Given the description of an element on the screen output the (x, y) to click on. 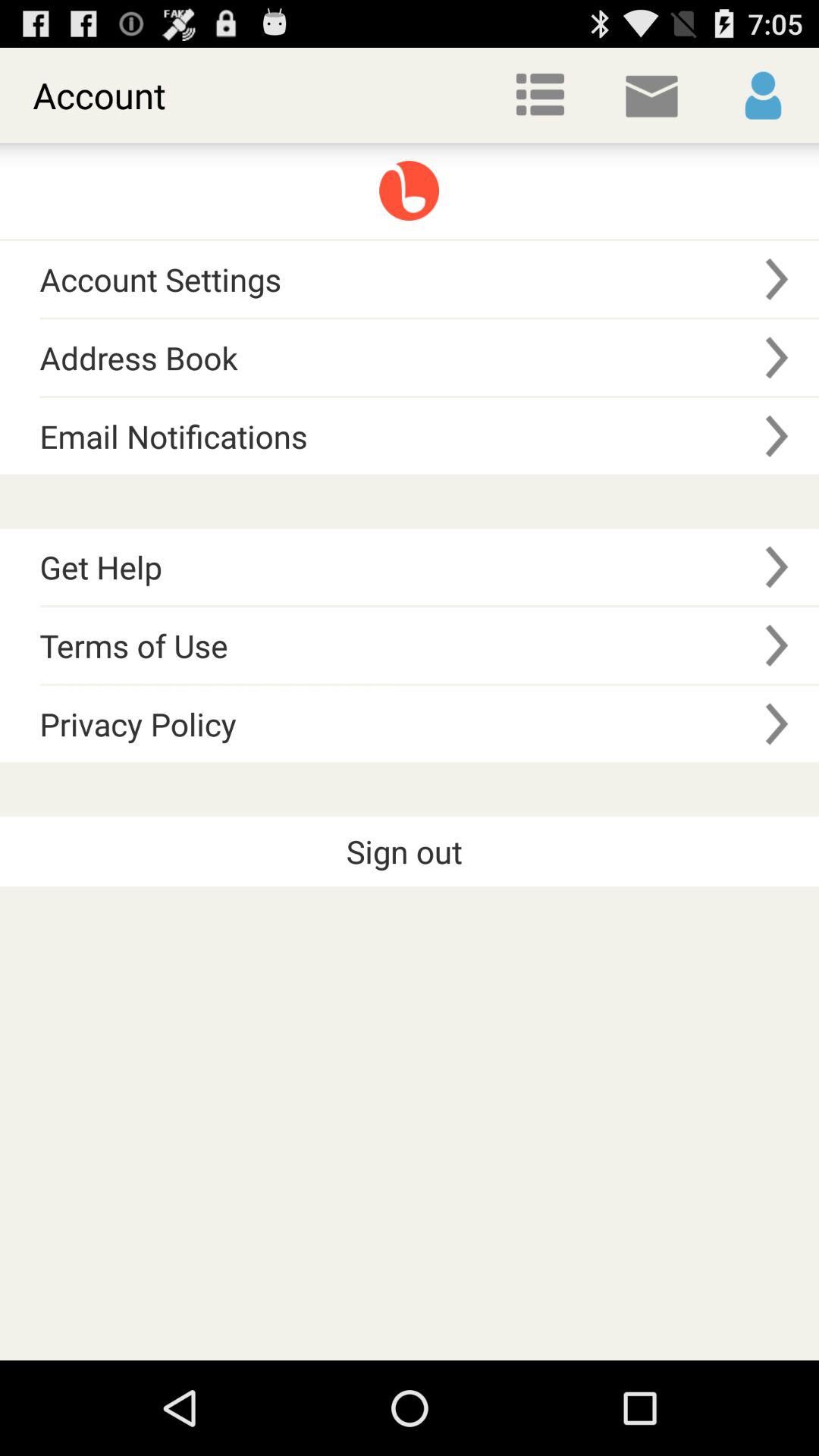
turn on the item to the right of account item (540, 95)
